Given the description of an element on the screen output the (x, y) to click on. 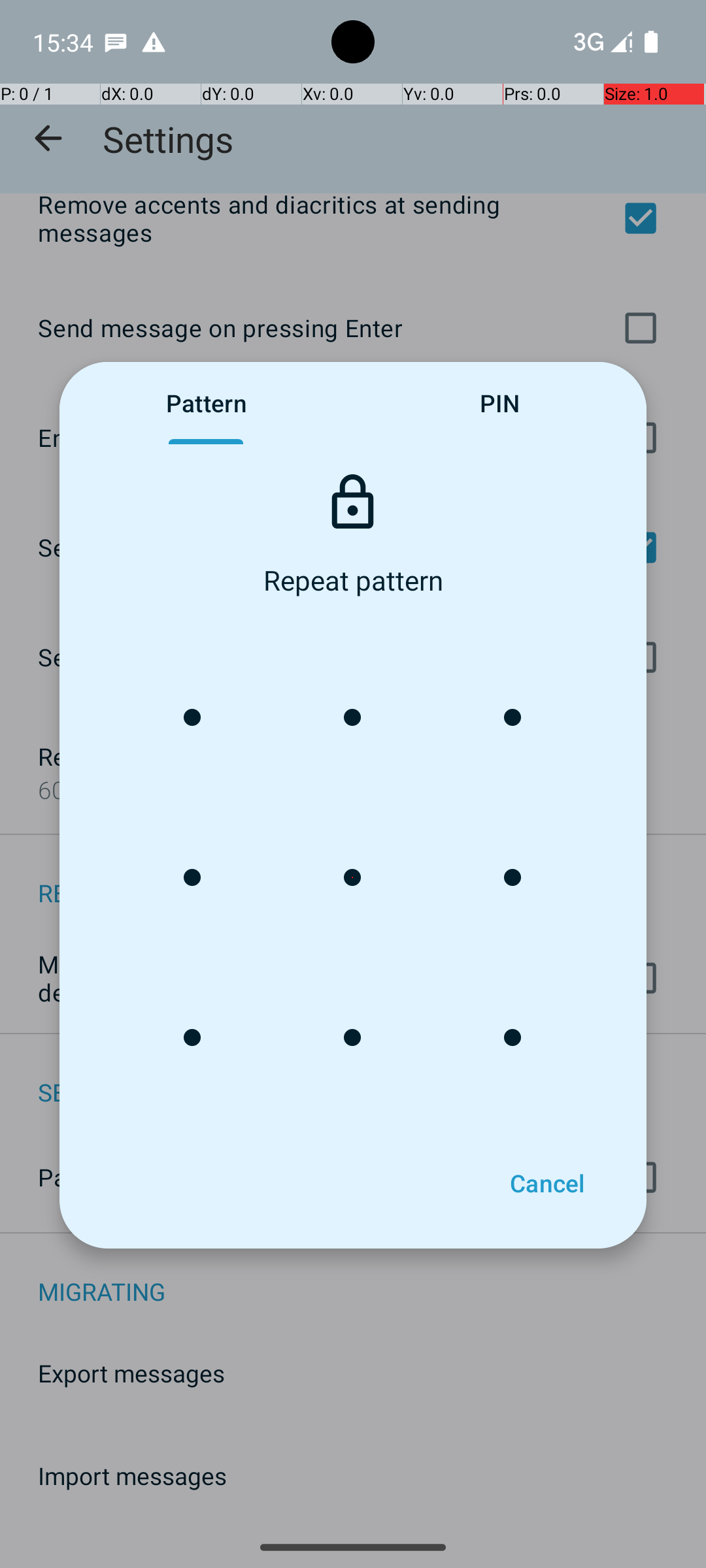
Pattern Element type: android.widget.LinearLayout (206, 402)
PIN Element type: android.widget.LinearLayout (499, 402)
Repeat pattern Element type: android.widget.TextView (352, 585)
